Given the description of an element on the screen output the (x, y) to click on. 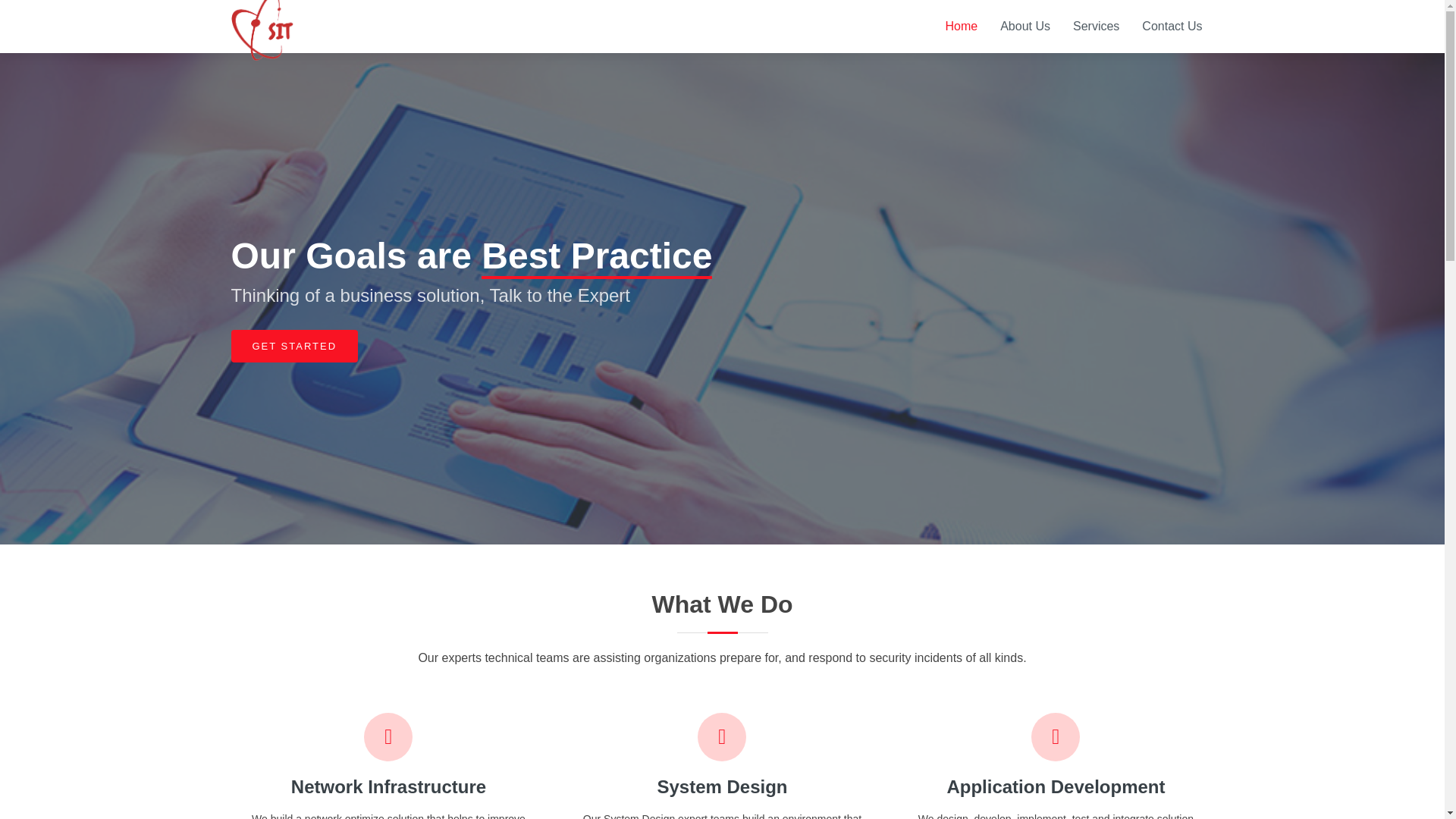
Network Infrastructure (388, 786)
Home (962, 26)
GET STARTED (294, 346)
GET STARTED (294, 346)
About Us (1024, 26)
Application Development (1055, 786)
System Design (721, 786)
Services (1096, 26)
Contact Us (1171, 26)
